Given the description of an element on the screen output the (x, y) to click on. 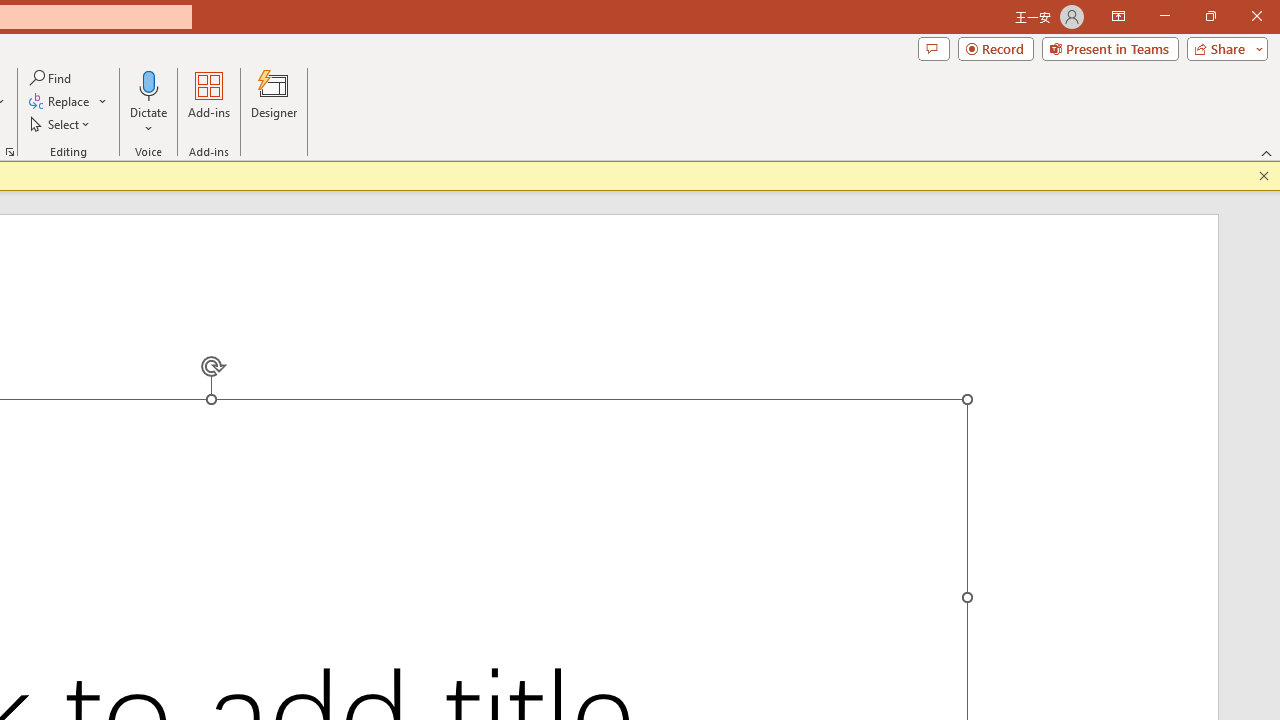
Close this message (1263, 176)
